Given the description of an element on the screen output the (x, y) to click on. 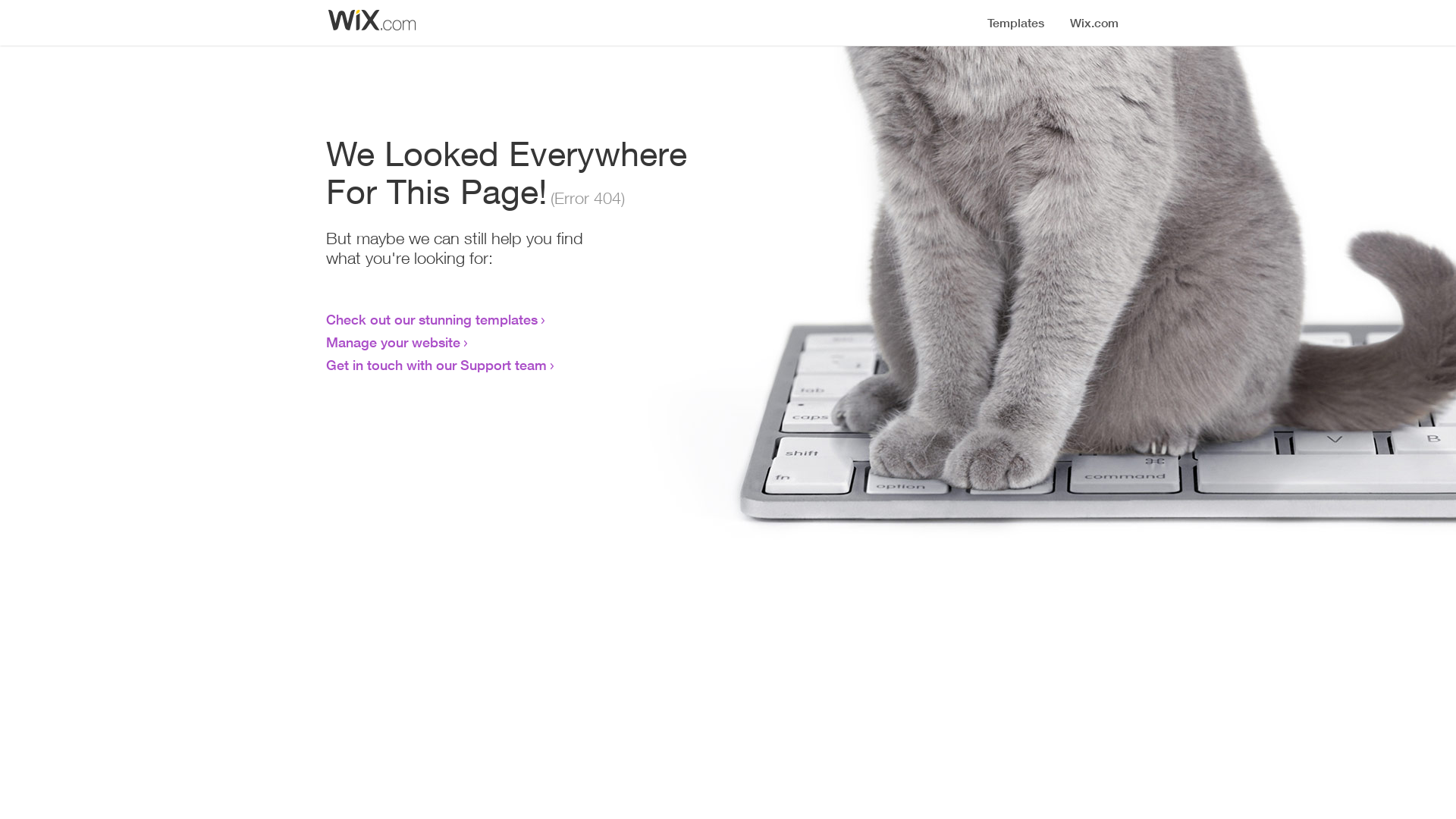
Check out our stunning templates Element type: text (431, 318)
Get in touch with our Support team Element type: text (436, 364)
Manage your website Element type: text (393, 341)
